Given the description of an element on the screen output the (x, y) to click on. 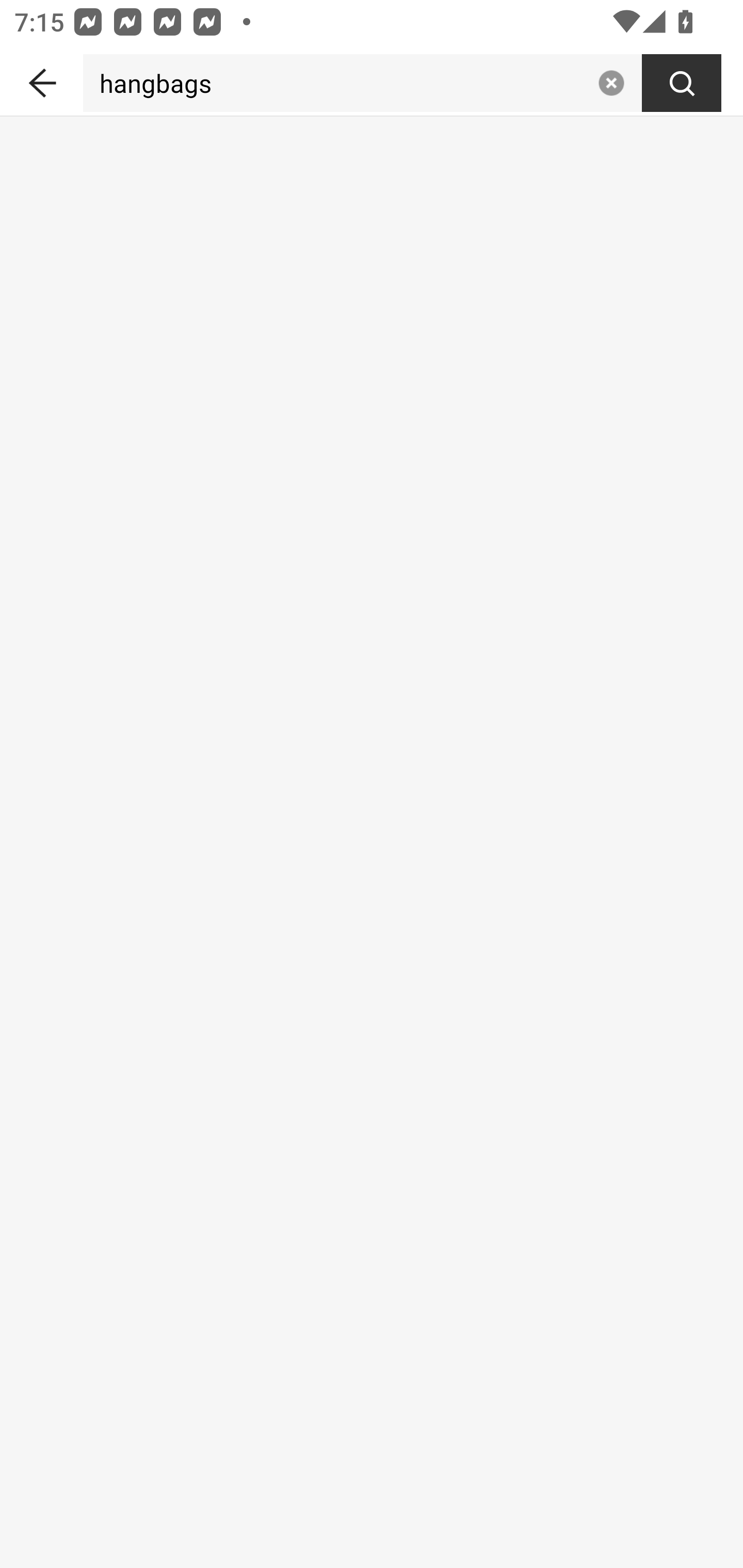
BACK (41, 79)
hangbags (336, 82)
Clear (610, 82)
